Given the description of an element on the screen output the (x, y) to click on. 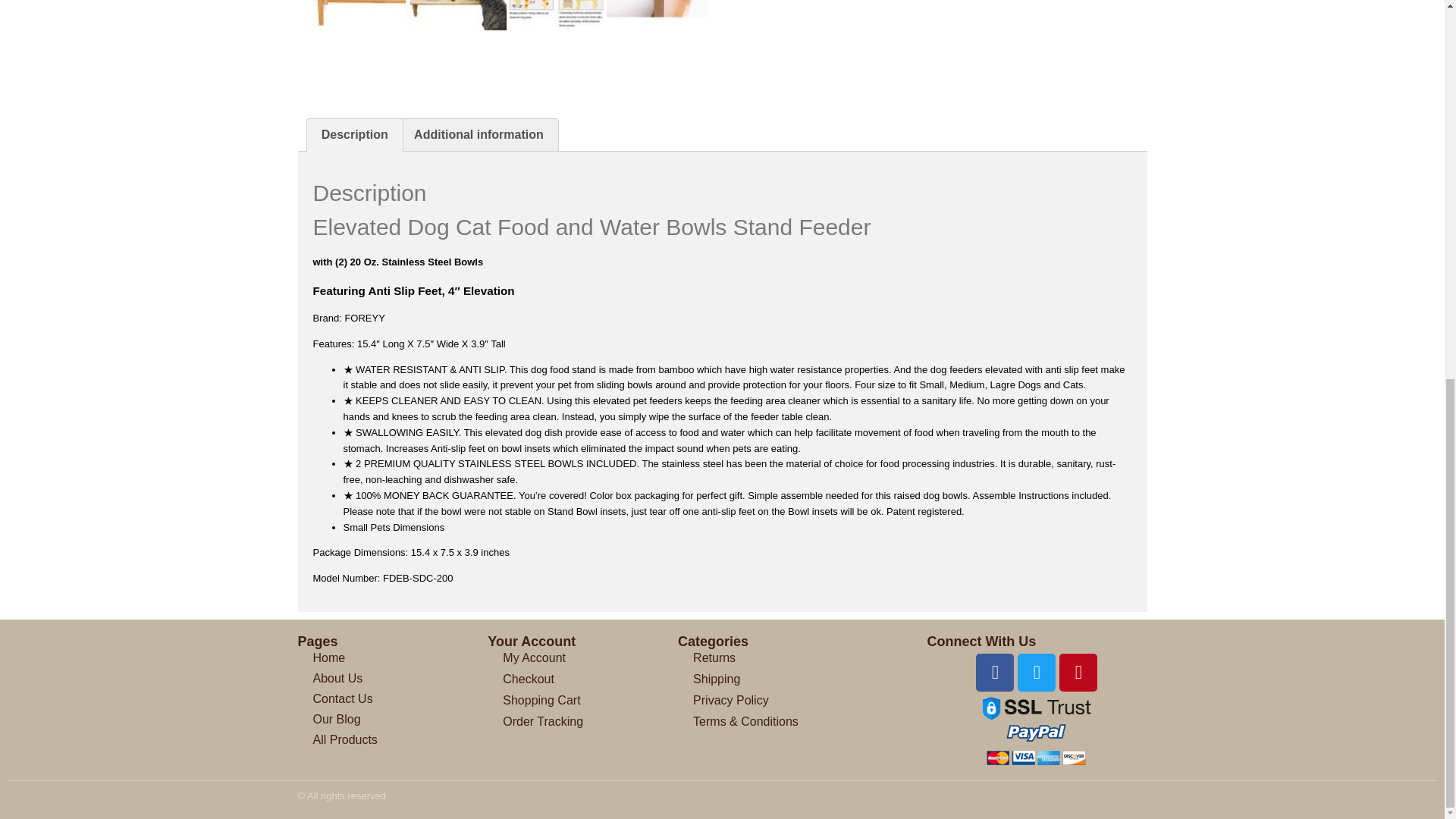
51xLHHMkFcL.jpg (355, 15)
51cSCpInN1L.jpg (456, 15)
51gZkAxVTL.jpg (556, 15)
41dMxjpvZ-L.jpg (657, 15)
